Given the description of an element on the screen output the (x, y) to click on. 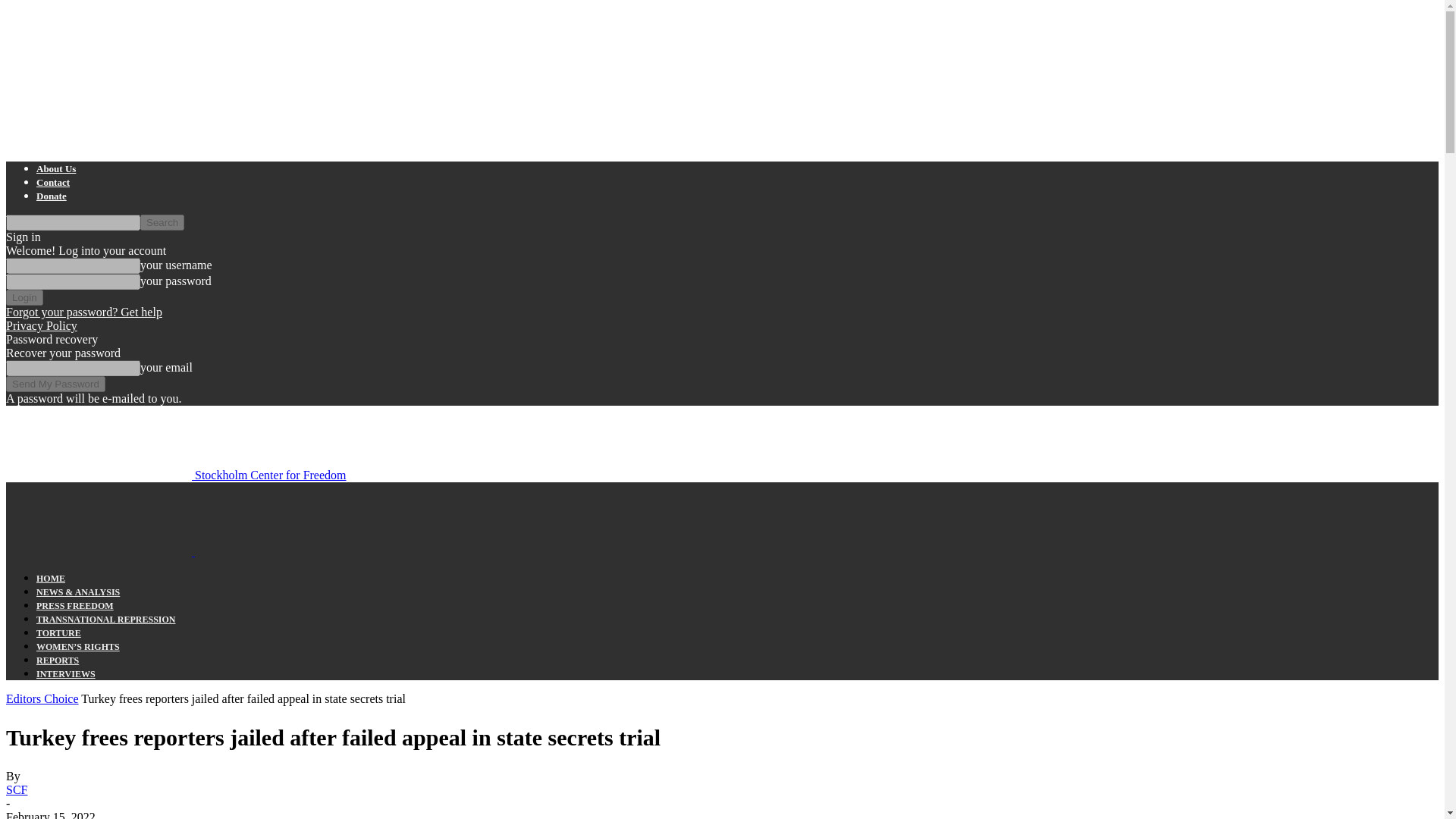
Donate (51, 195)
REPORTS (57, 660)
About Us (55, 168)
Forgot your password? Get help (83, 311)
TRANSNATIONAL REPRESSION (106, 619)
Send My Password (54, 383)
PRESS FREEDOM (74, 605)
TORTURE (58, 633)
Stockholm Center for Freedom (175, 474)
INTERVIEWS (66, 674)
Login (24, 297)
Search (161, 222)
View all posts in Editors Choice (41, 698)
Privacy Policy (41, 325)
Contact (52, 182)
